Given the description of an element on the screen output the (x, y) to click on. 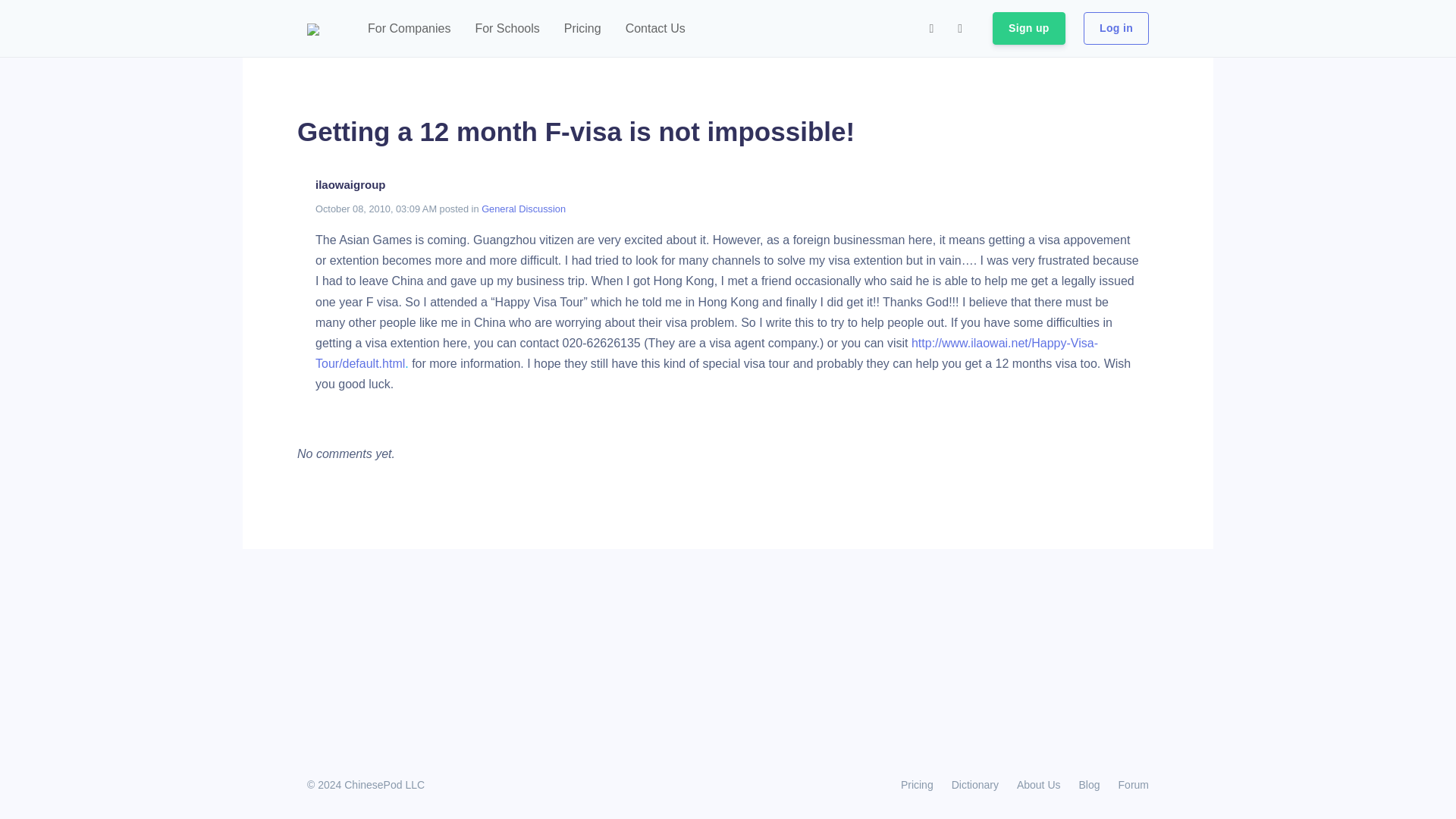
Forum (1128, 784)
Pricing (916, 784)
General Discussion (523, 208)
Follow us on Instagram (930, 28)
About Us (1038, 784)
Contact Us (654, 28)
Pricing (581, 28)
Dictionary (974, 784)
Sign up (1028, 28)
Subscribe on Youtube (959, 28)
